Given the description of an element on the screen output the (x, y) to click on. 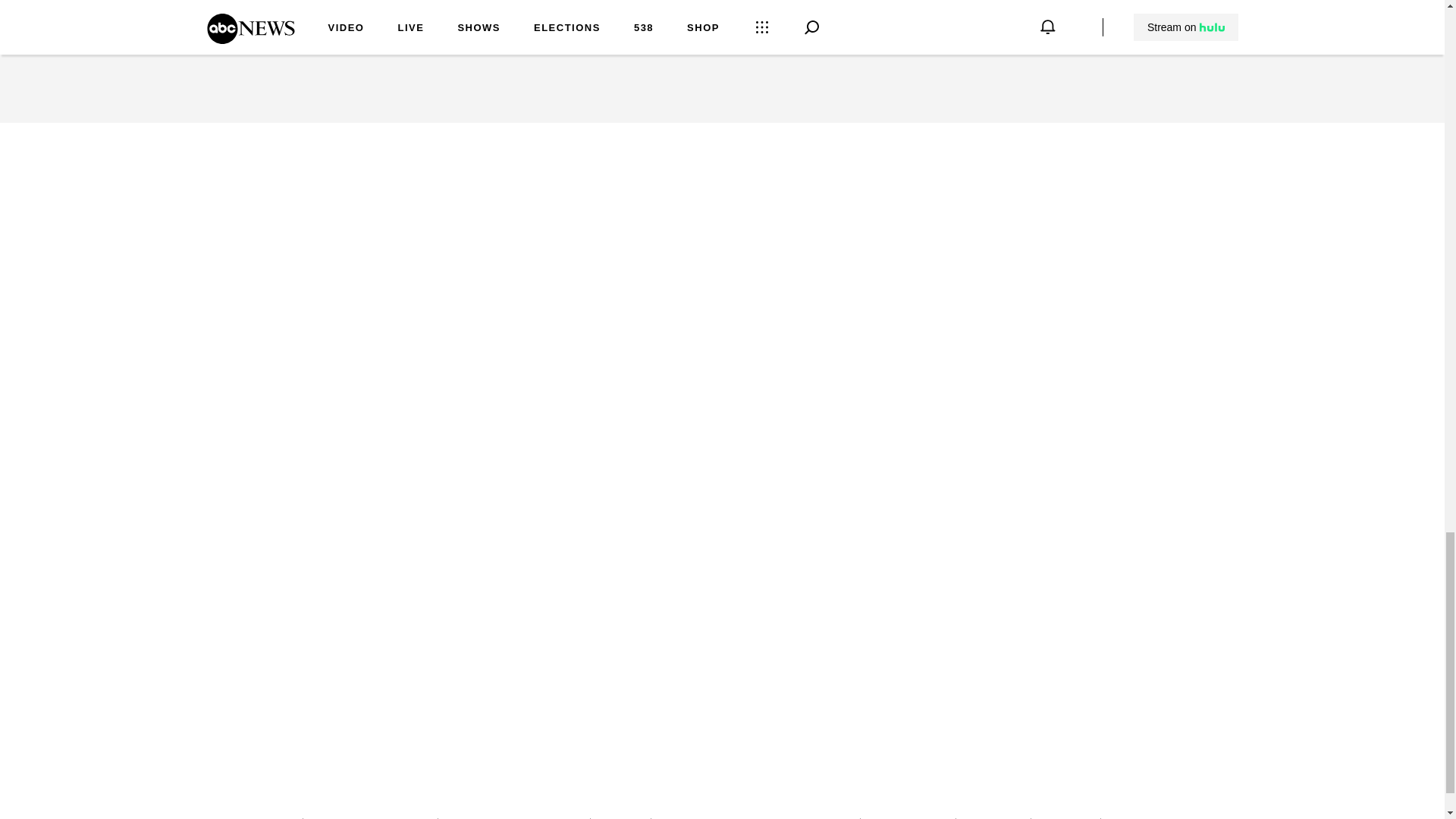
Terms of Use (1065, 818)
Contact Us (620, 818)
